Given the description of an element on the screen output the (x, y) to click on. 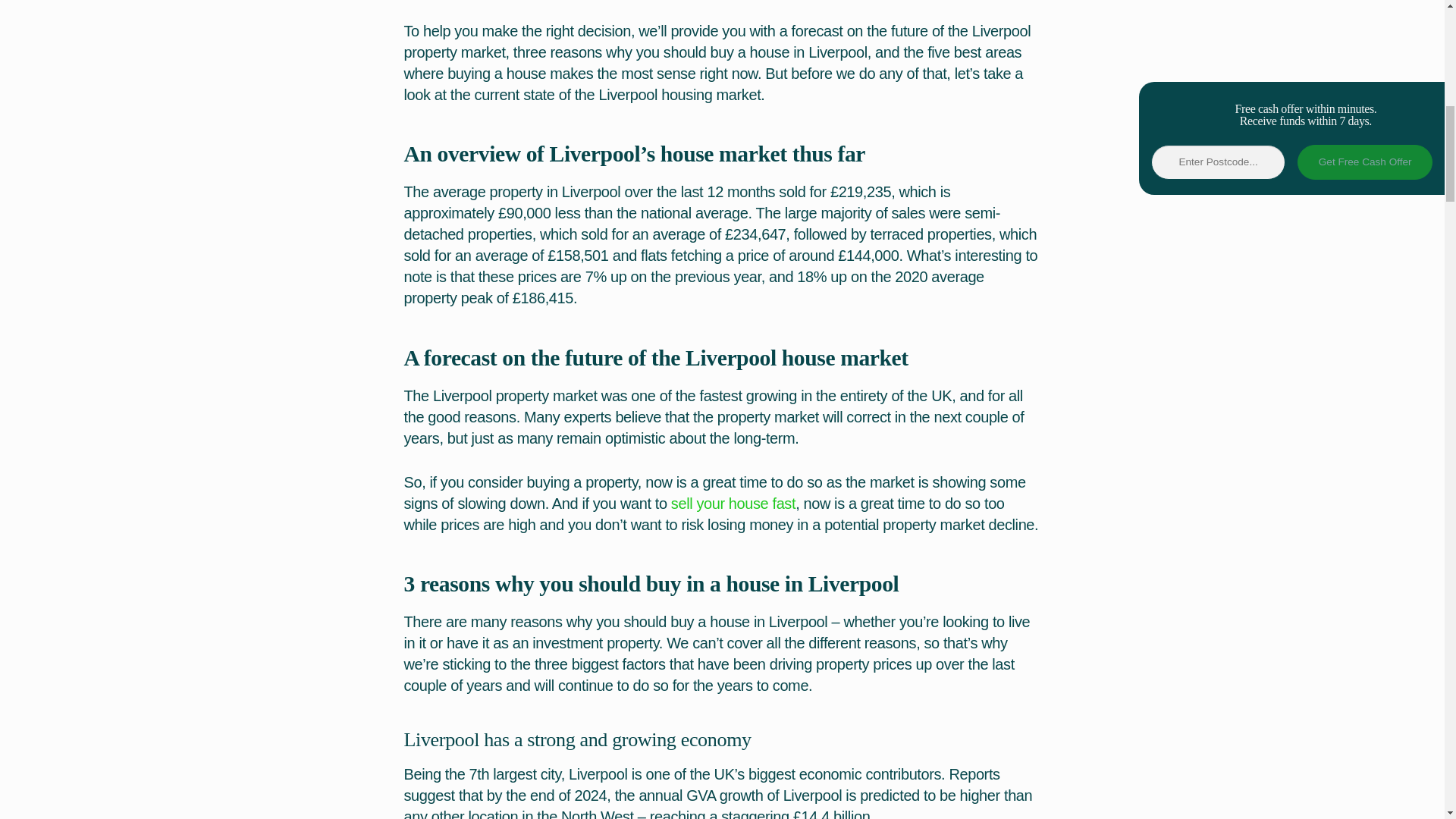
Get Free Cash Offer (1364, 161)
sell your house fast (732, 503)
